Given the description of an element on the screen output the (x, y) to click on. 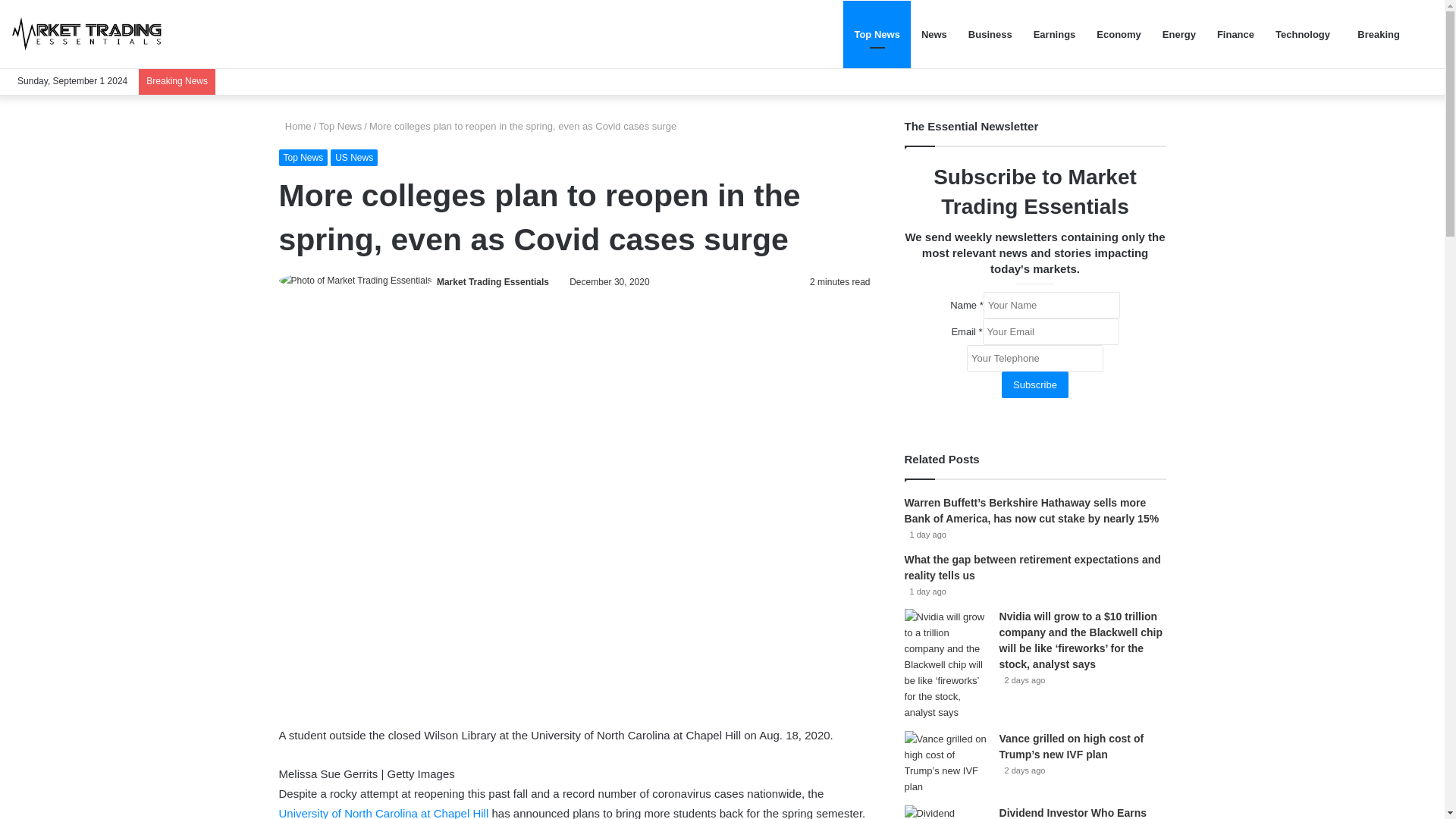
Top News (876, 33)
Market Trading Essentials (492, 281)
Top News (339, 125)
US News (353, 157)
Earnings (1054, 33)
Breaking (1375, 33)
Home (295, 125)
Business (990, 33)
Top News (304, 157)
Market Trading Essentials (492, 281)
